Given the description of an element on the screen output the (x, y) to click on. 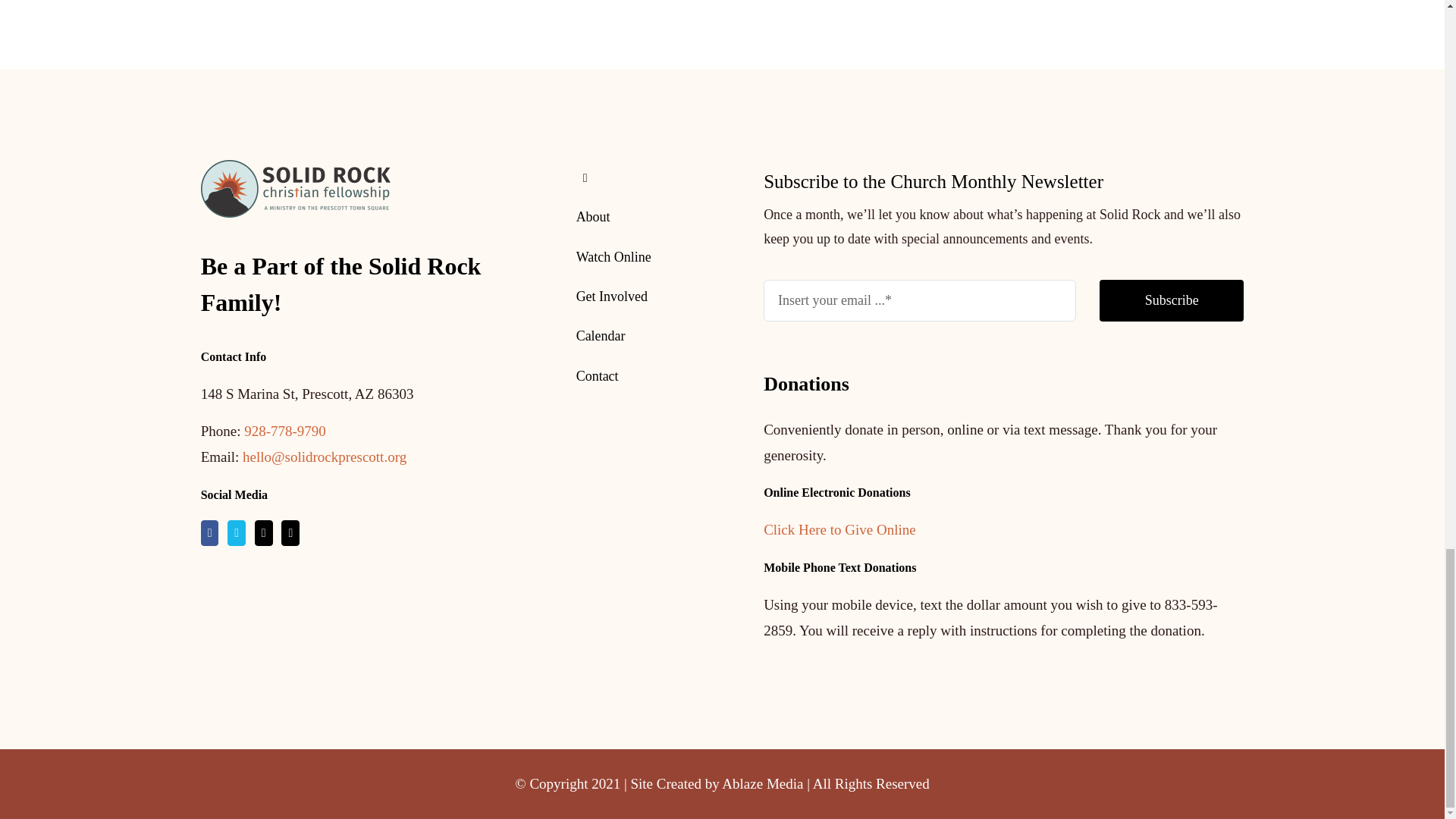
SRCF Logo 1 250 px (295, 188)
Subscribe (1002, 308)
